Given the description of an element on the screen output the (x, y) to click on. 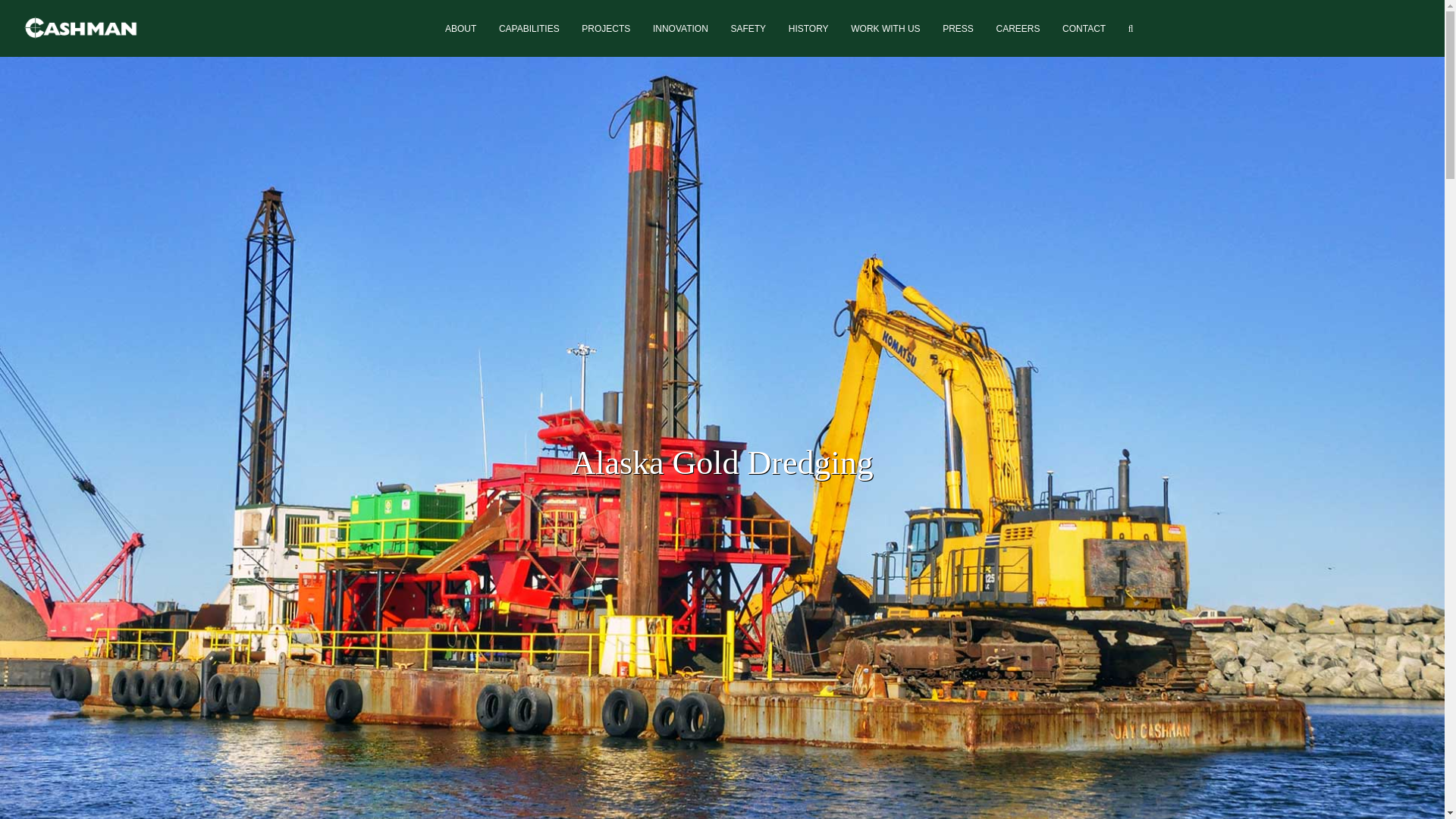
Jay Cashman Projects (605, 28)
Capabilities (528, 28)
Work With Us (884, 28)
Careers (1017, 28)
History of Jay Cashman (808, 28)
WORK WITH US (884, 28)
About Jay Cashman (460, 28)
Contact (1083, 28)
Press (957, 28)
ABOUT (460, 28)
HISTORY (808, 28)
Safety (748, 28)
PRESS (957, 28)
CAPABILITIES (528, 28)
CAREERS (1017, 28)
